Given the description of an element on the screen output the (x, y) to click on. 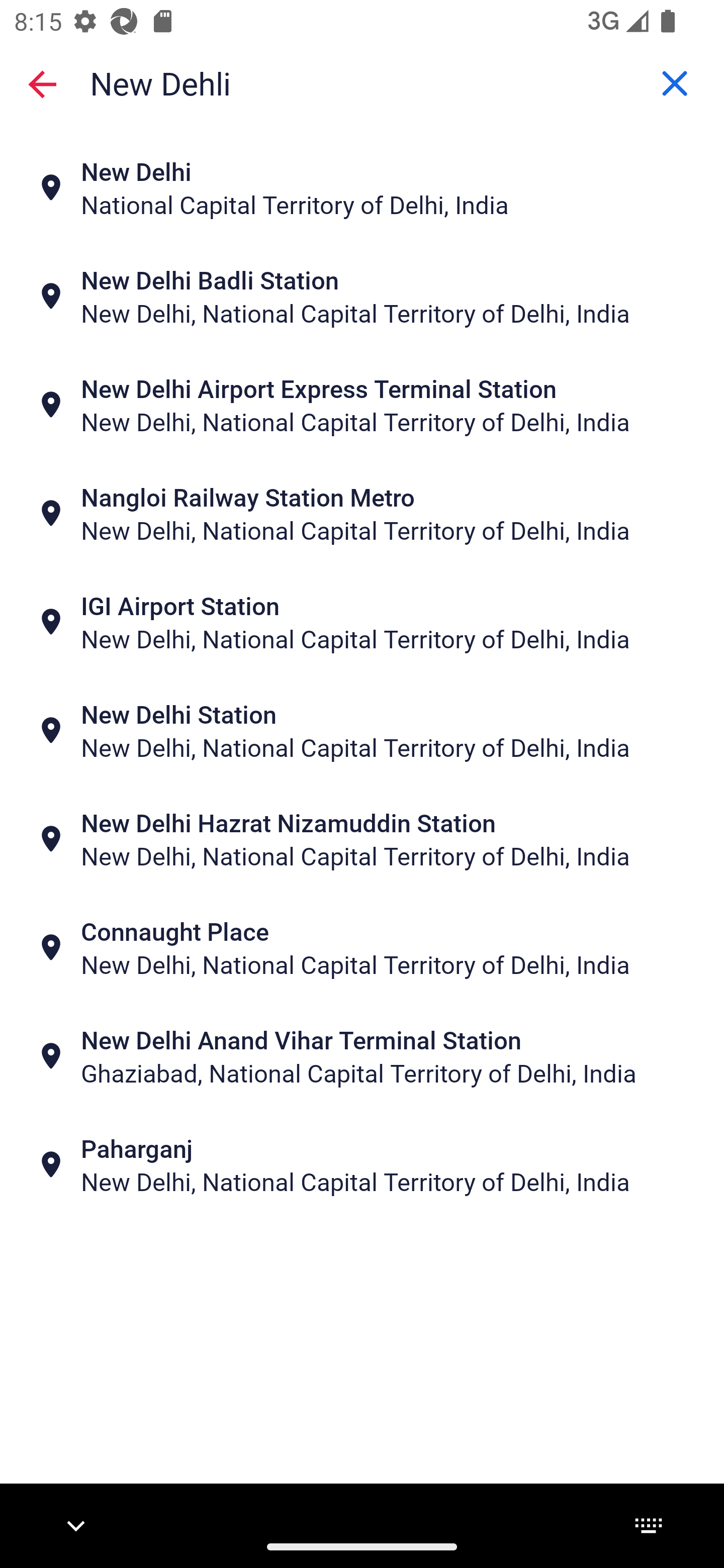
Clear Pick-up (674, 82)
Pick-up, New Dehli (361, 82)
Close search screen (41, 83)
